Given the description of an element on the screen output the (x, y) to click on. 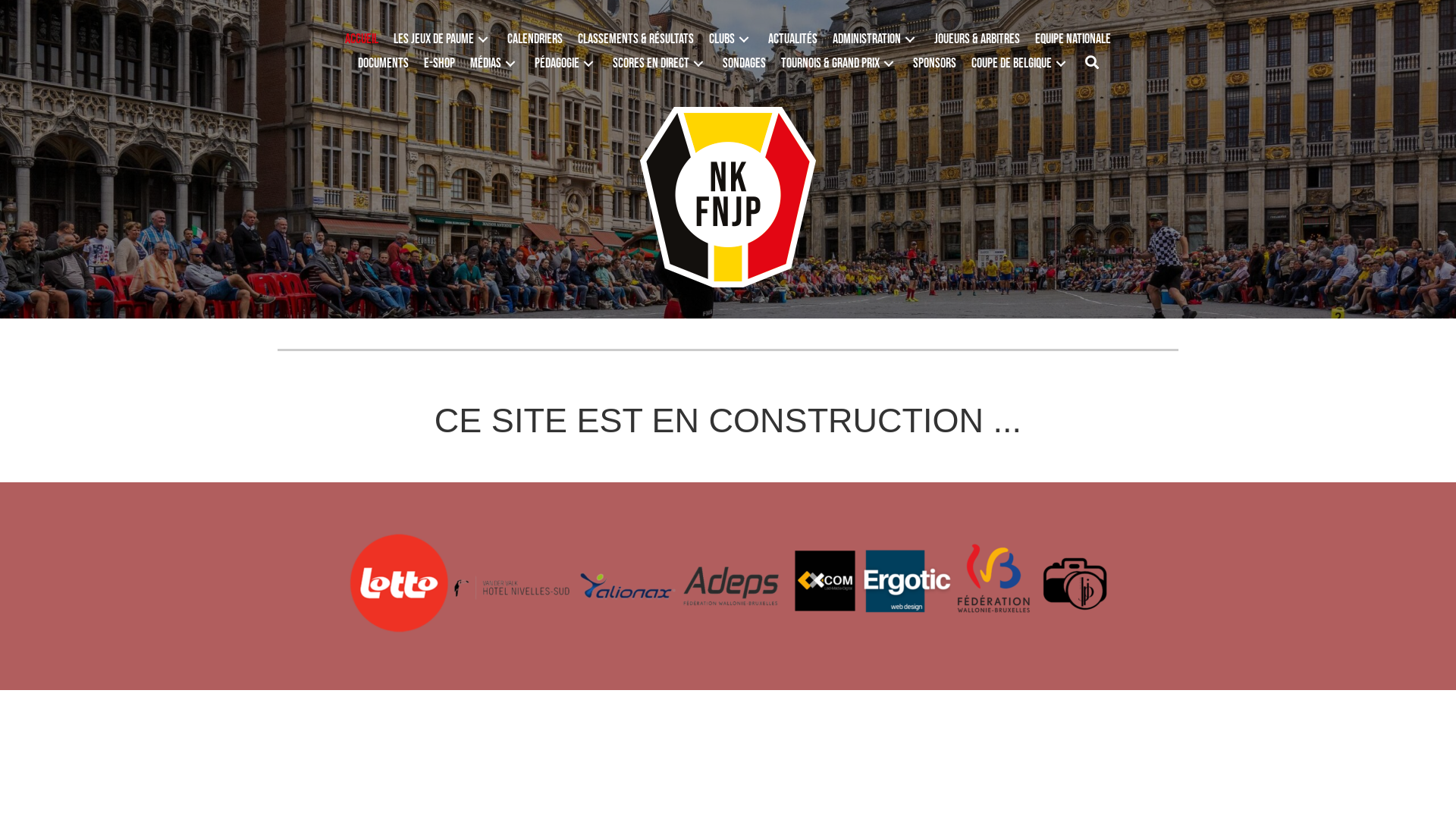
Documents Element type: text (383, 63)
Calendriers Element type: text (534, 39)
E-Shop Element type: text (438, 63)
Les jeux de Paume Element type: text (442, 39)
Clubs Element type: text (730, 39)
Sponsors Element type: text (934, 63)
Accueil Element type: text (361, 39)
Equipe nationale Element type: text (1072, 39)
Tournois & Grand prix Element type: text (839, 63)
Coupe de Belgique Element type: text (1019, 63)
logo FNJP belgique contour blanc Element type: hover (727, 197)
Administration Element type: text (875, 39)
bandeau sponsors (6) Element type: hover (727, 585)
Scores en direct Element type: text (660, 63)
Joueurs & arbitres Element type: text (976, 39)
Sondages Element type: text (743, 63)
